Given the description of an element on the screen output the (x, y) to click on. 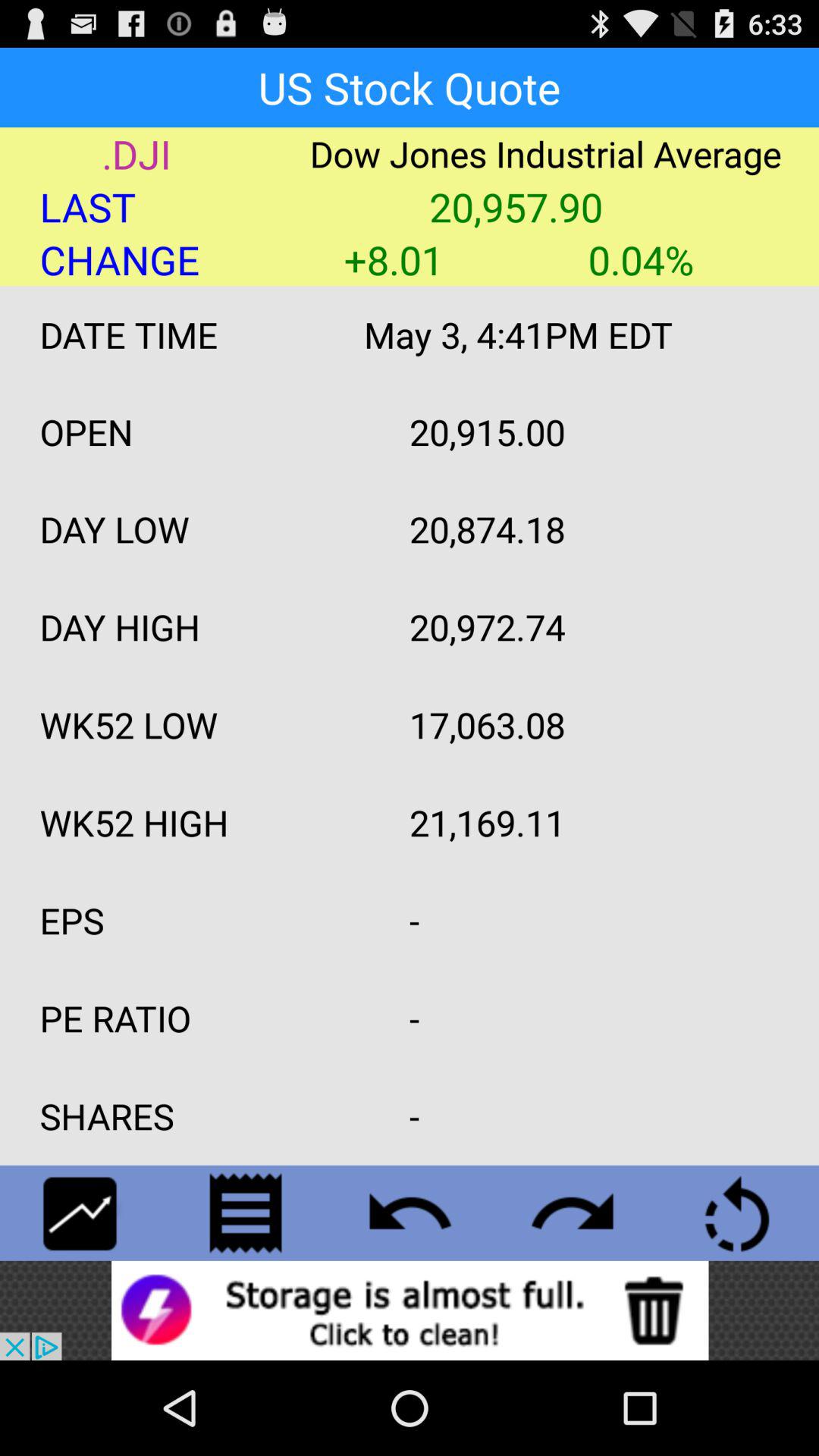
reload the page (736, 1212)
